Given the description of an element on the screen output the (x, y) to click on. 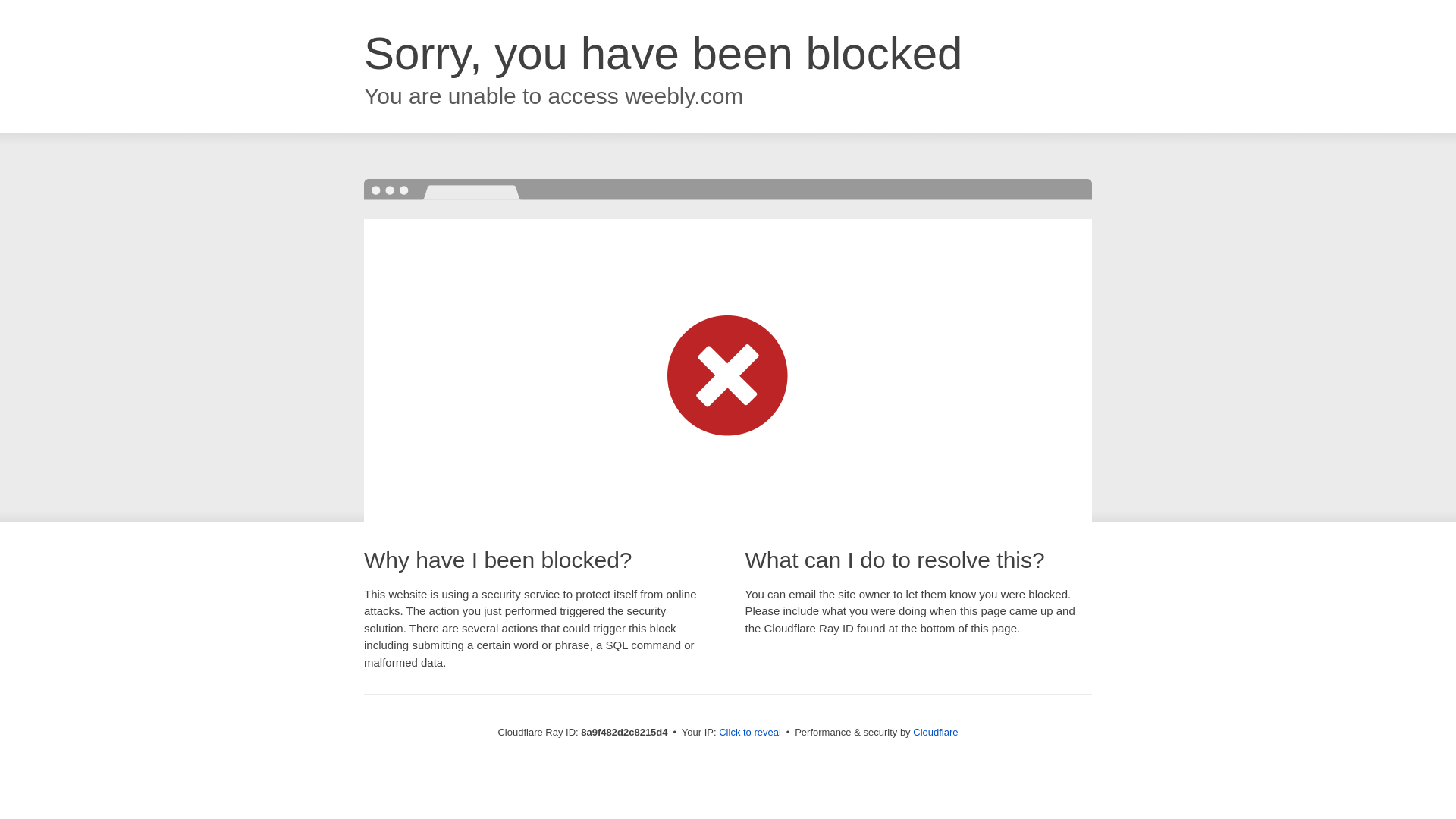
Click to reveal (749, 732)
Cloudflare (935, 731)
